Given the description of an element on the screen output the (x, y) to click on. 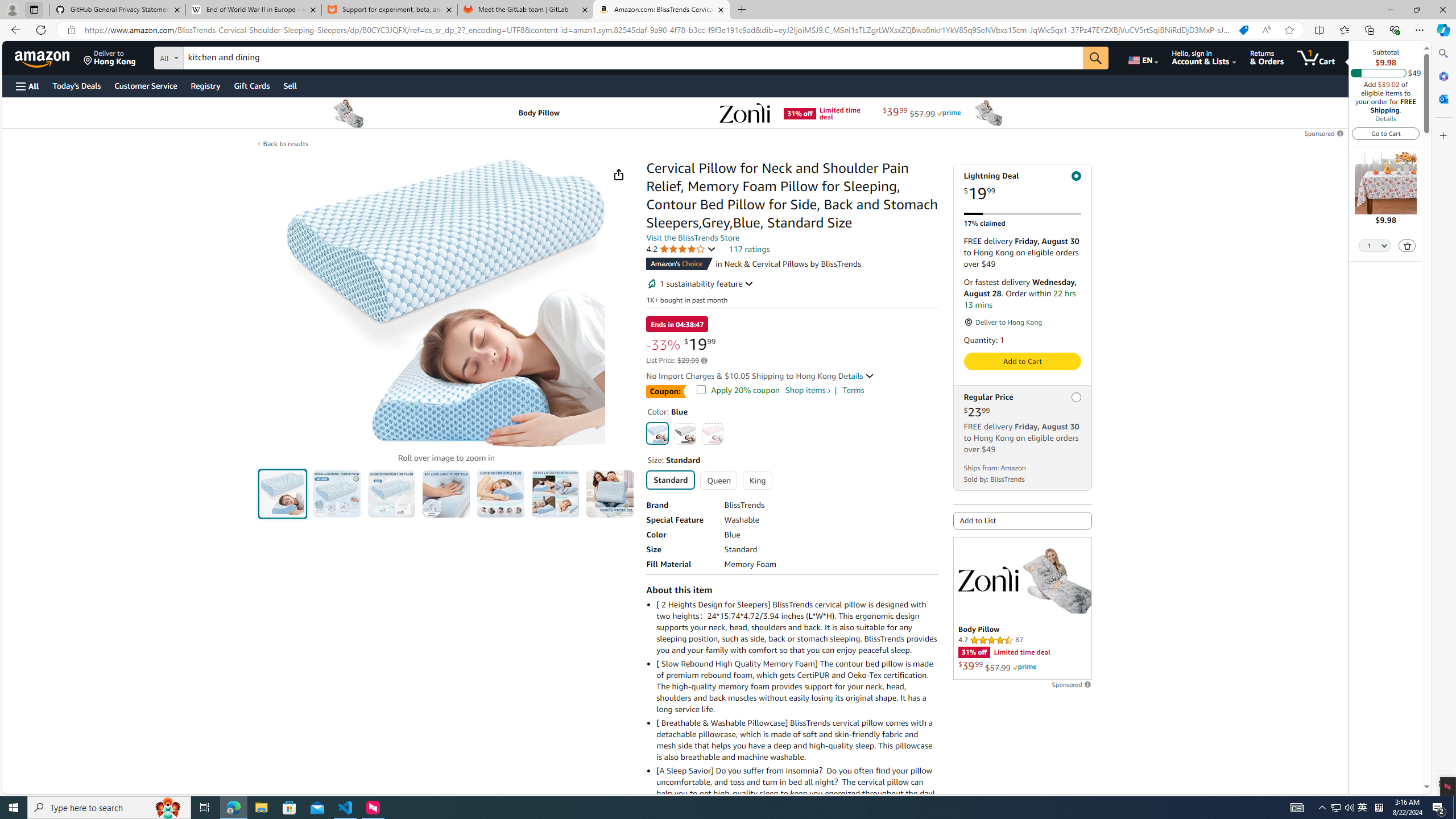
Pink (711, 433)
Sustainability features 1 sustainability feature  (700, 283)
Pink (711, 433)
Share (618, 174)
Grey (684, 433)
Gift Cards (251, 85)
Delete (1407, 245)
Sell (290, 85)
Sponsored ad (1022, 608)
Blue (657, 432)
